Given the description of an element on the screen output the (x, y) to click on. 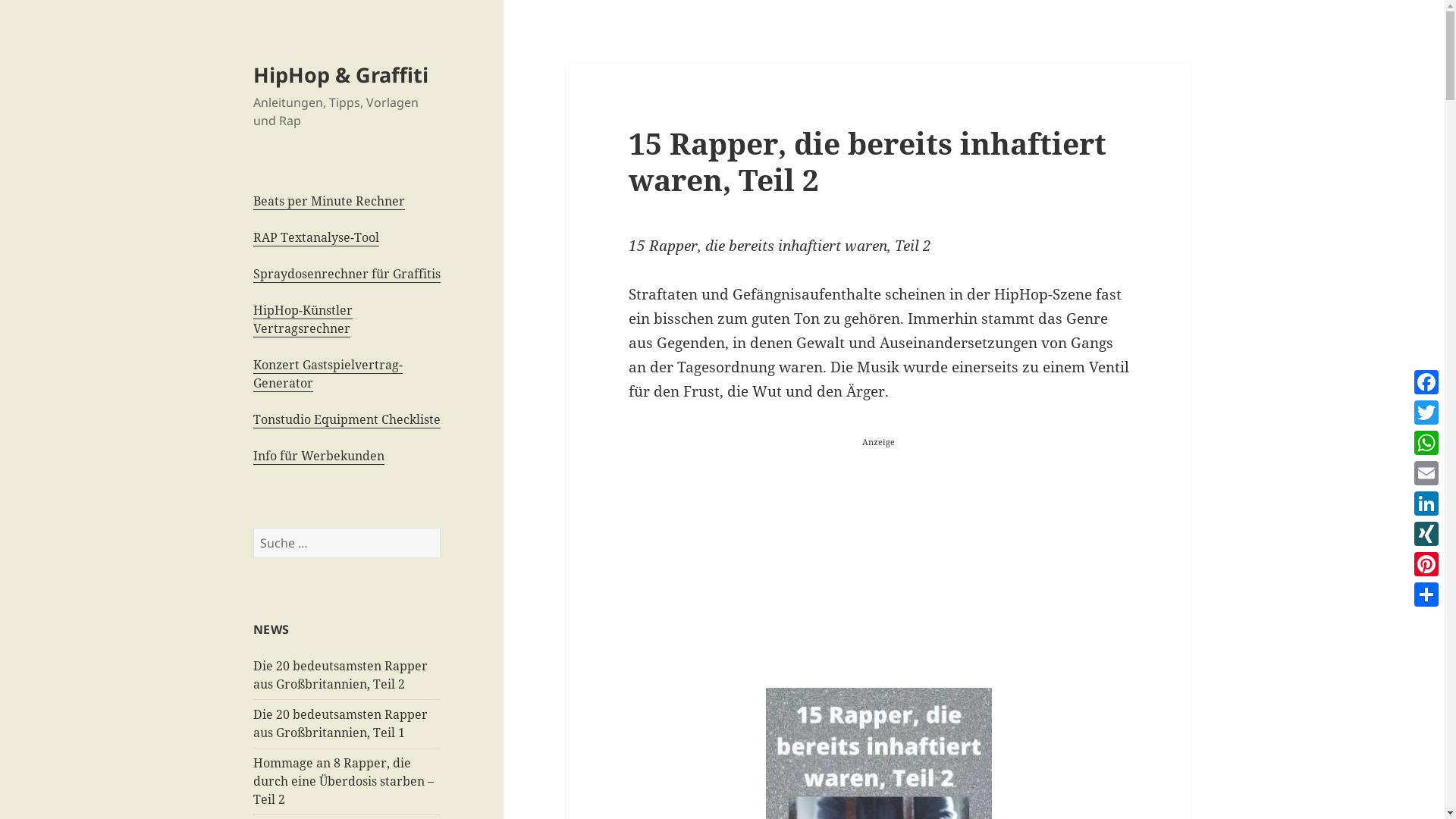
WhatsApp Element type: text (1426, 442)
Pinterest Element type: text (1426, 564)
Konzert Gastspielvertrag-Generator Element type: text (327, 374)
Facebook Element type: text (1426, 382)
Beats per Minute Rechner Element type: text (328, 201)
Tonstudio Equipment Checkliste Element type: text (346, 419)
Twitter Element type: text (1426, 412)
HipHop & Graffiti Element type: text (340, 74)
XING Element type: text (1426, 533)
Advertisement Element type: hover (878, 558)
LinkedIn Element type: text (1426, 503)
Email Element type: text (1426, 473)
Suche Element type: text (439, 527)
Teilen Element type: text (1426, 594)
RAP Textanalyse-Tool Element type: text (316, 237)
